Given the description of an element on the screen output the (x, y) to click on. 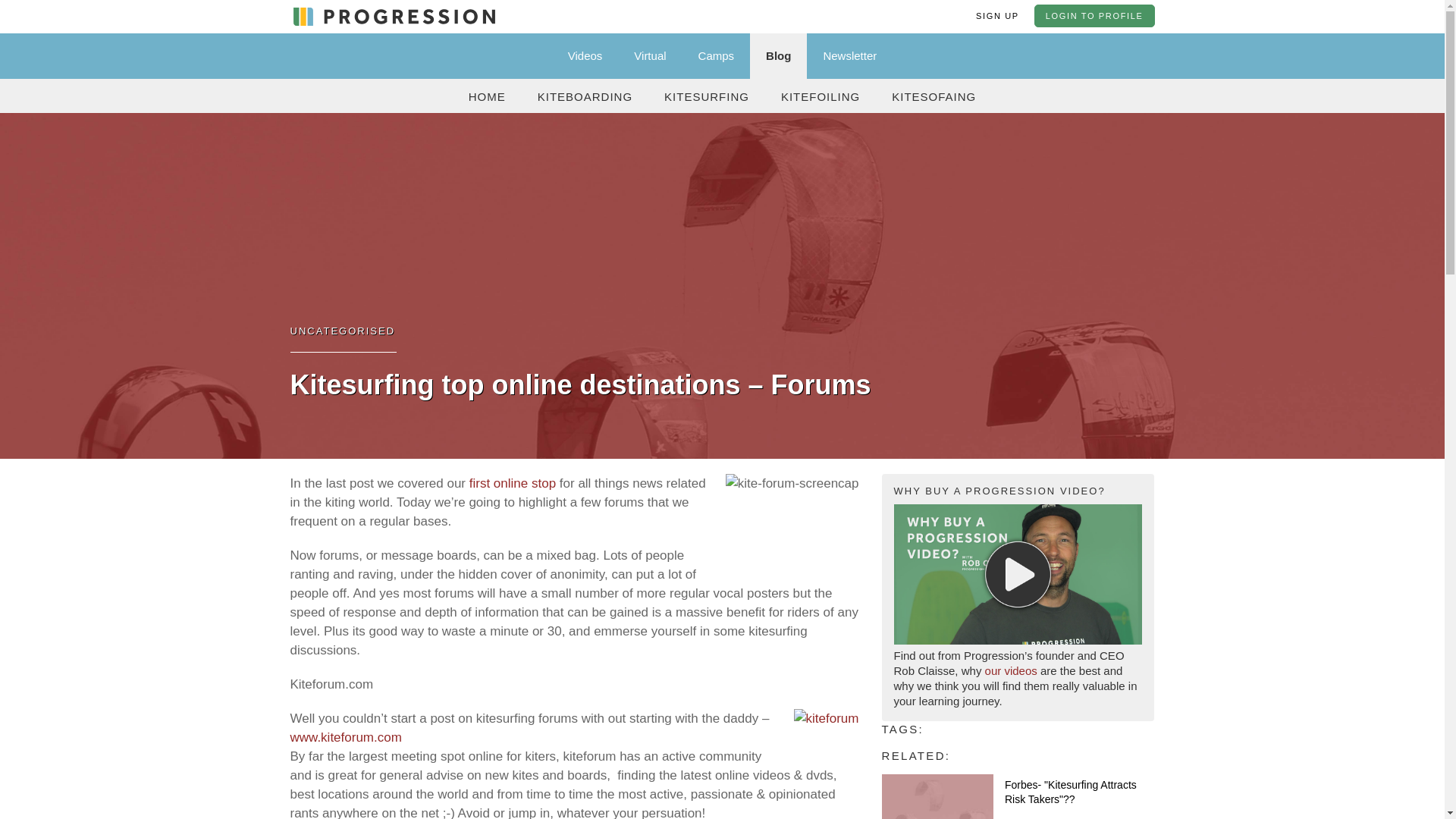
LOGIN TO PROFILE (1093, 15)
Blog (777, 55)
SIGN UP (996, 15)
Forbes- "Kitesurfing Attracts Risk Takers"?? (1070, 791)
www.kiteforum.com (345, 737)
Newsletter (849, 55)
Videos (584, 55)
HOME (486, 96)
KITESURFING (706, 96)
KITEBOARDING (584, 96)
KITEFOILING (820, 96)
first online stop (512, 482)
our videos (1010, 670)
Camps (716, 55)
Virtual (649, 55)
